Given the description of an element on the screen output the (x, y) to click on. 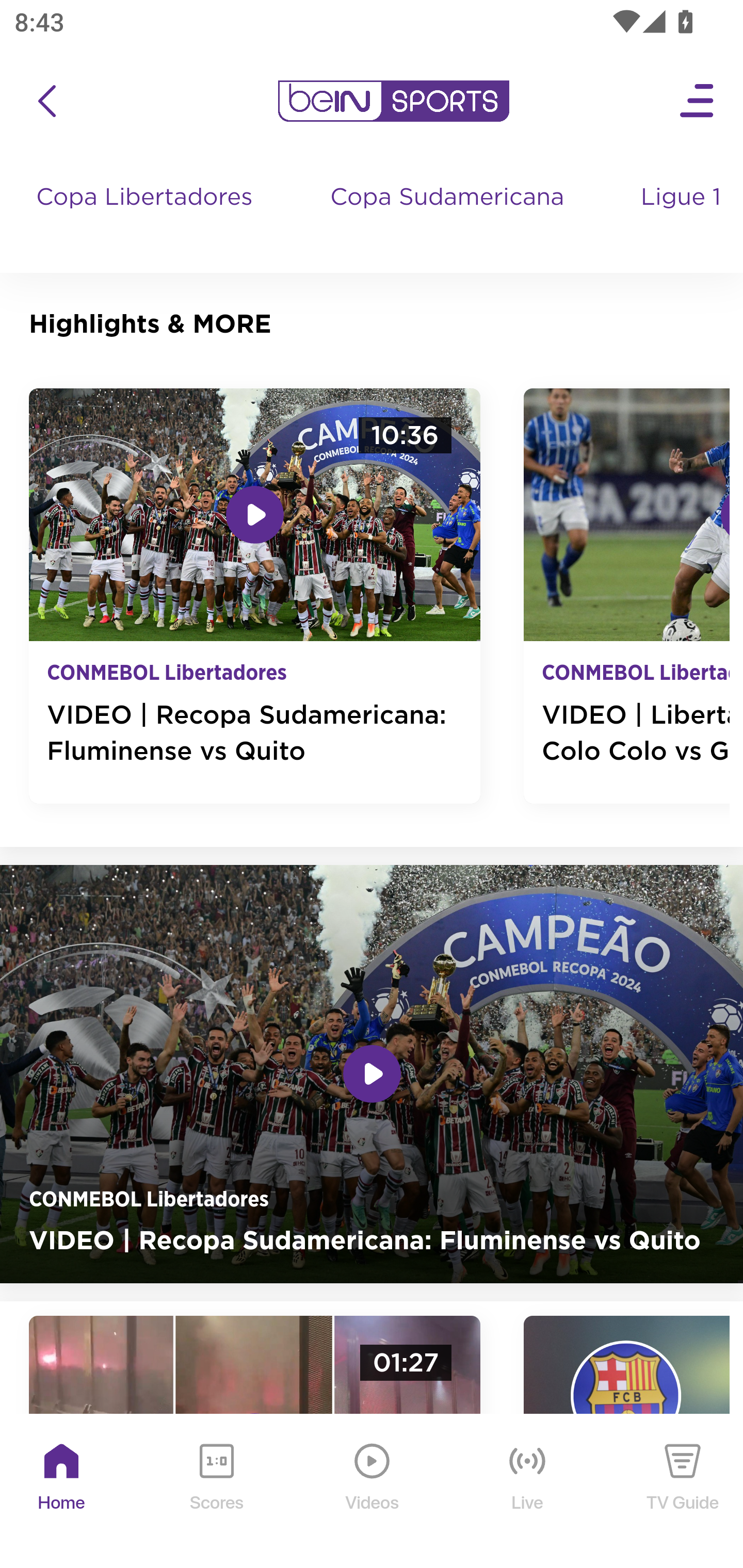
en-us?platform=mobile_android bein logo (392, 101)
icon back (46, 101)
Open Menu Icon (697, 101)
Copa Libertadores (146, 216)
Copa Sudamericana (448, 216)
Ligue 1 (682, 216)
Home Home Icon Home (61, 1491)
Scores Scores Icon Scores (216, 1491)
Videos Videos Icon Videos (372, 1491)
TV Guide TV Guide Icon TV Guide (682, 1491)
